Given the description of an element on the screen output the (x, y) to click on. 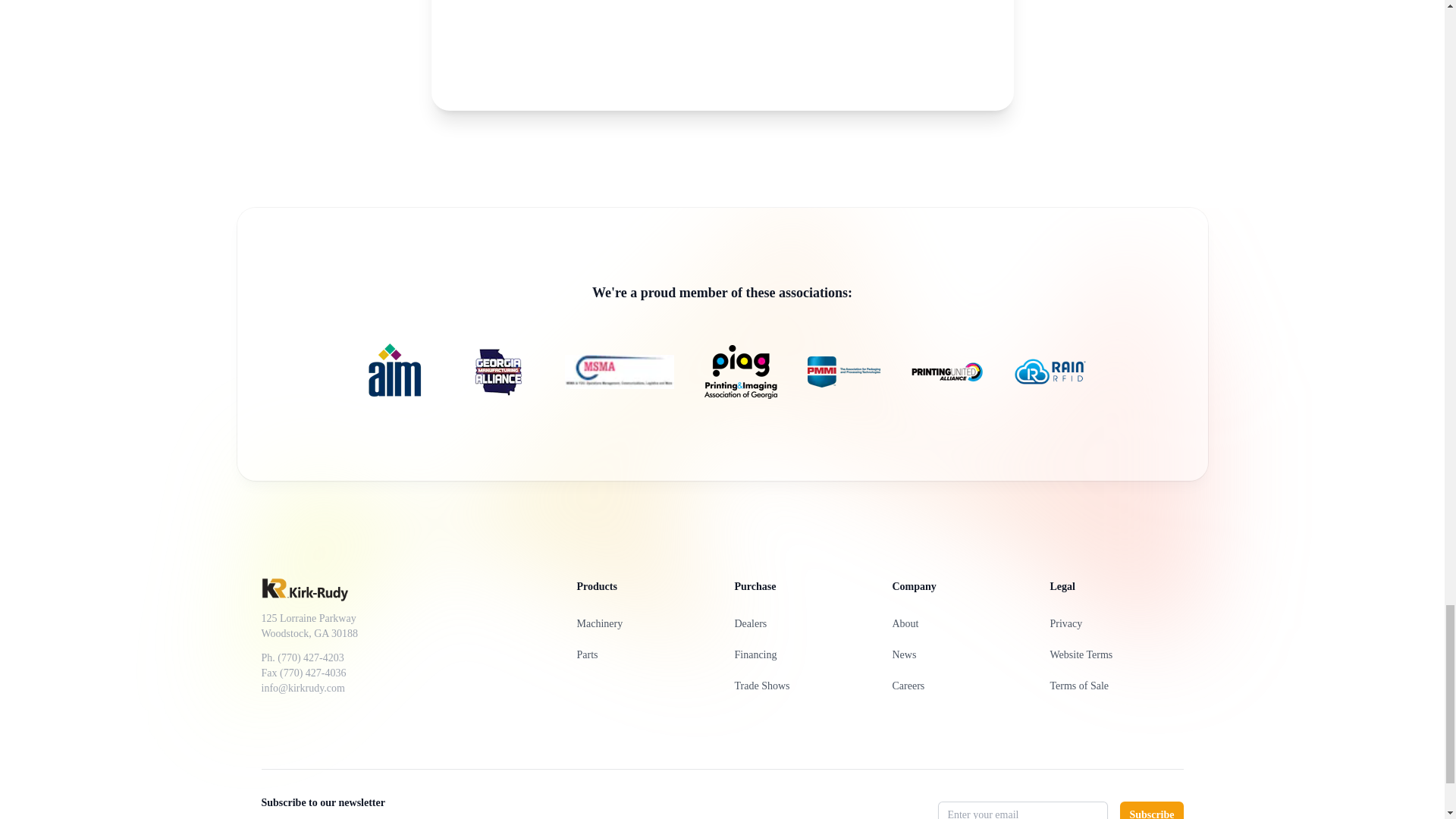
About (904, 623)
Website Terms (1080, 654)
Kirk-Rudy Promo (721, 55)
Parts (586, 654)
News (903, 654)
Financing (754, 654)
Trade Shows (761, 685)
Privacy (1065, 623)
Dealers (750, 623)
Careers (907, 685)
Machinery (599, 623)
Terms of Sale (1078, 685)
